Given the description of an element on the screen output the (x, y) to click on. 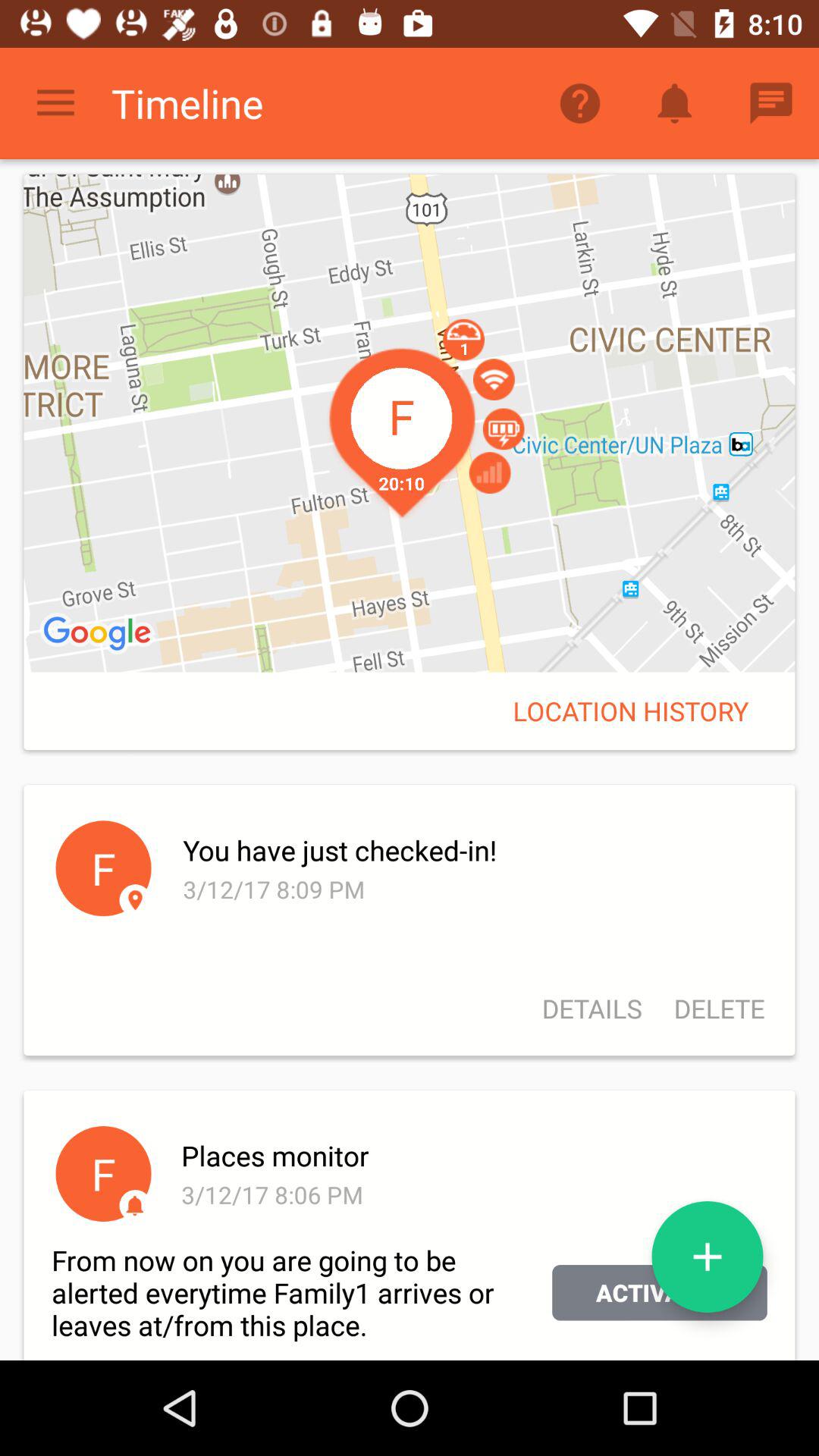
select the icon next to the f (472, 1155)
